Given the description of an element on the screen output the (x, y) to click on. 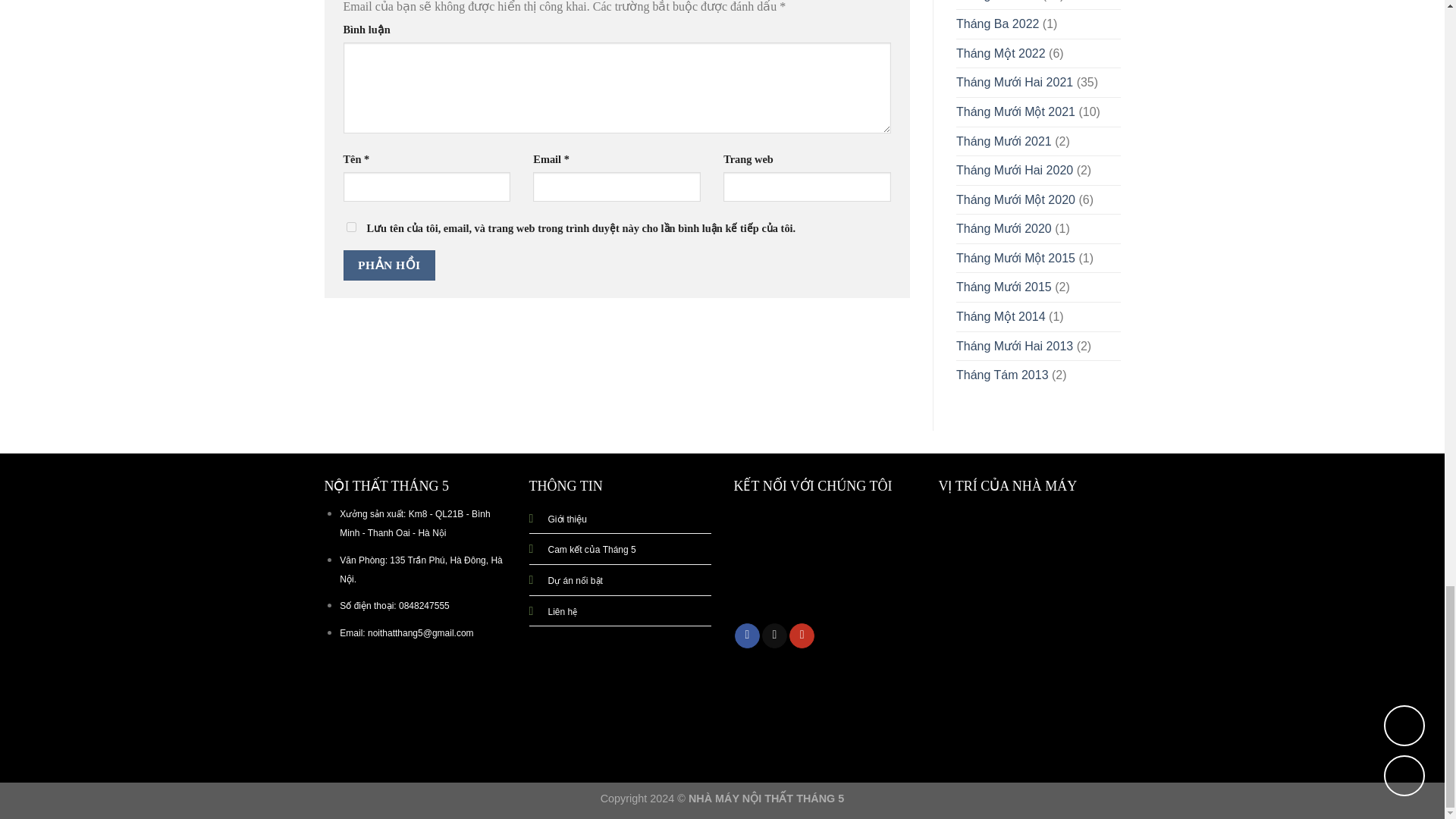
yes (350, 226)
